Given the description of an element on the screen output the (x, y) to click on. 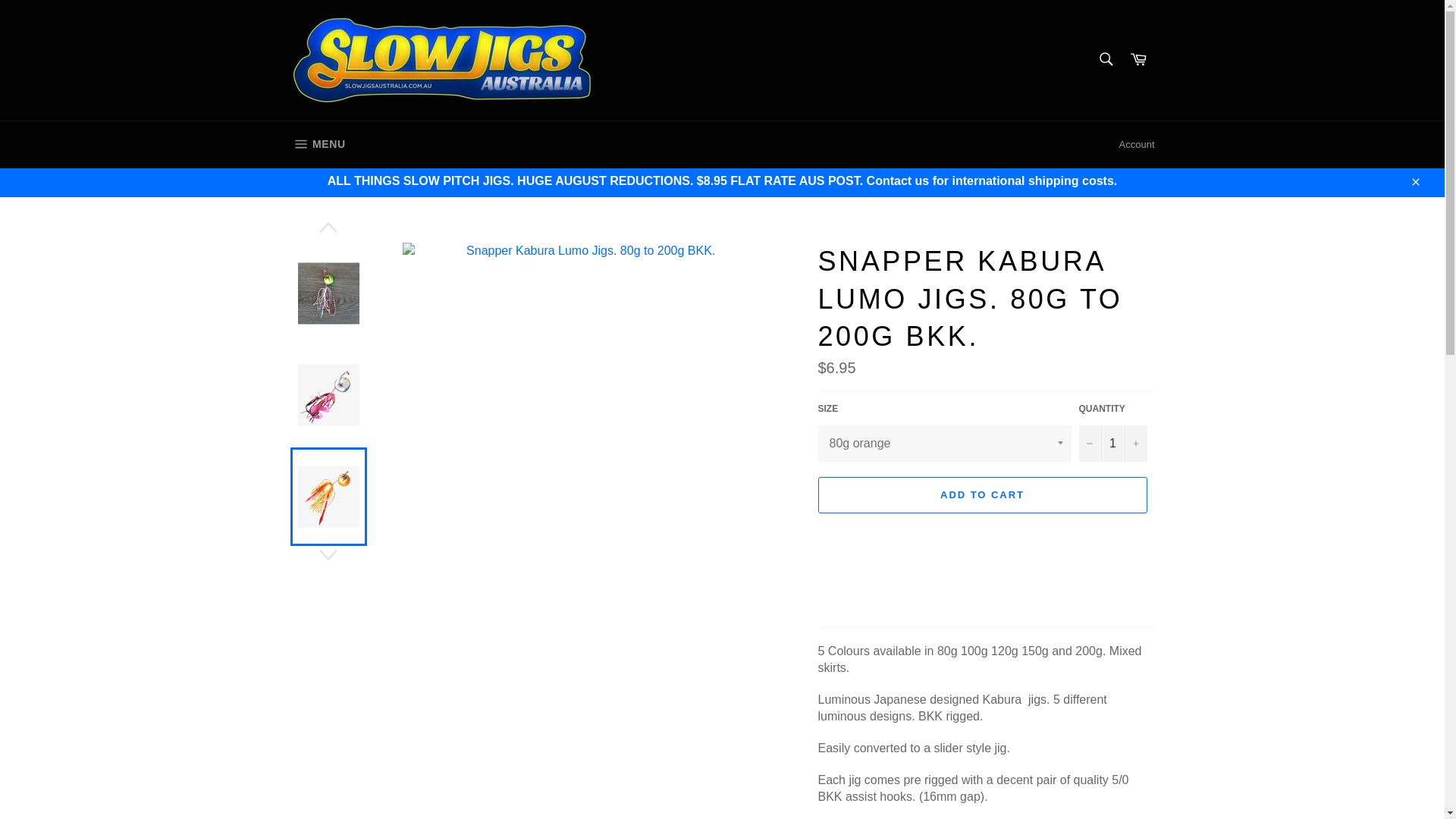
Cart (1138, 59)
1 (317, 144)
Search (1112, 443)
